Given the description of an element on the screen output the (x, y) to click on. 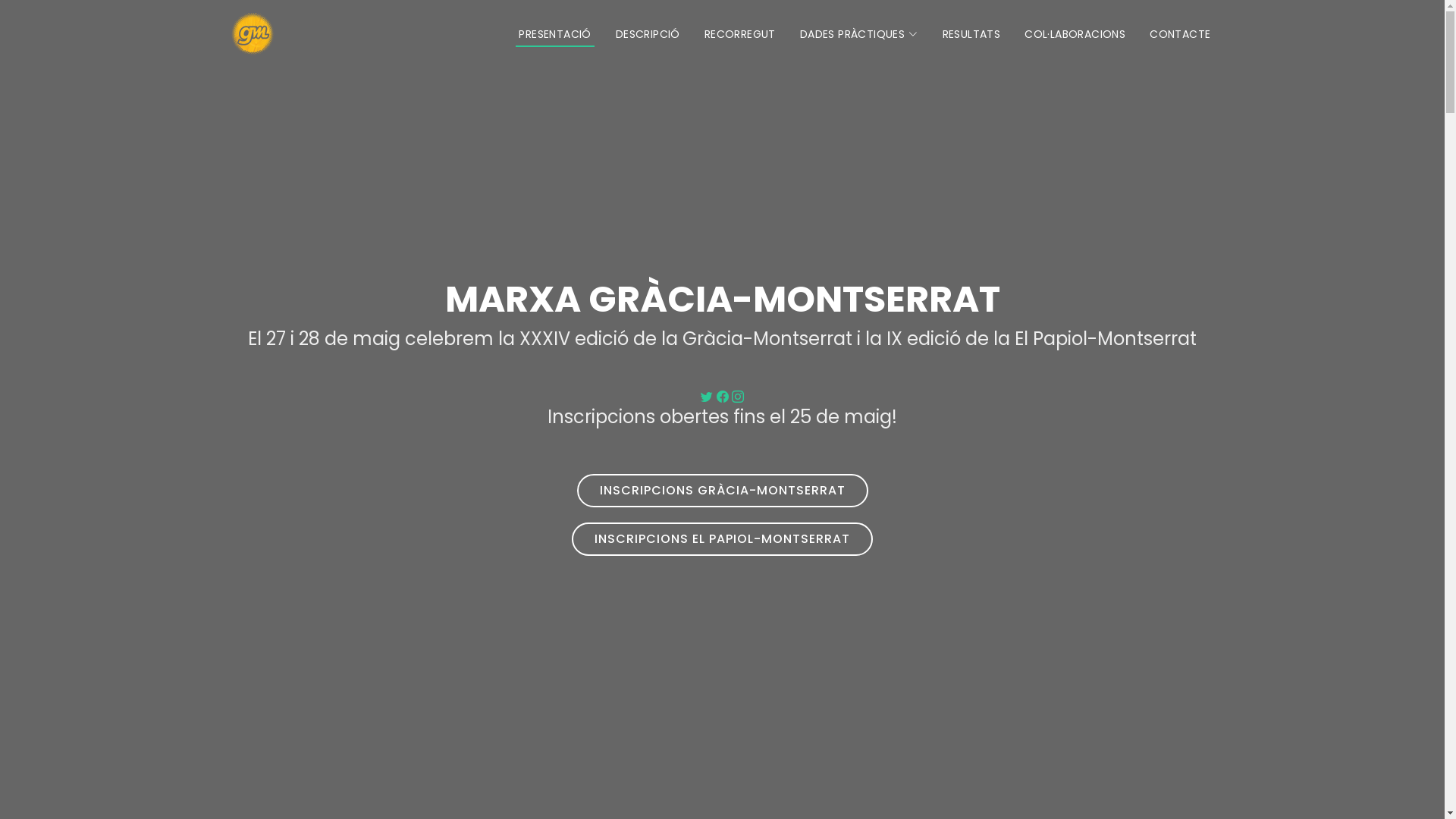
RECORREGUT Element type: text (739, 33)
CONTACTE Element type: text (1179, 33)
RESULTATS Element type: text (971, 33)
INSCRIPCIONS EL PAPIOL-MONTSERRAT Element type: text (721, 538)
